Given the description of an element on the screen output the (x, y) to click on. 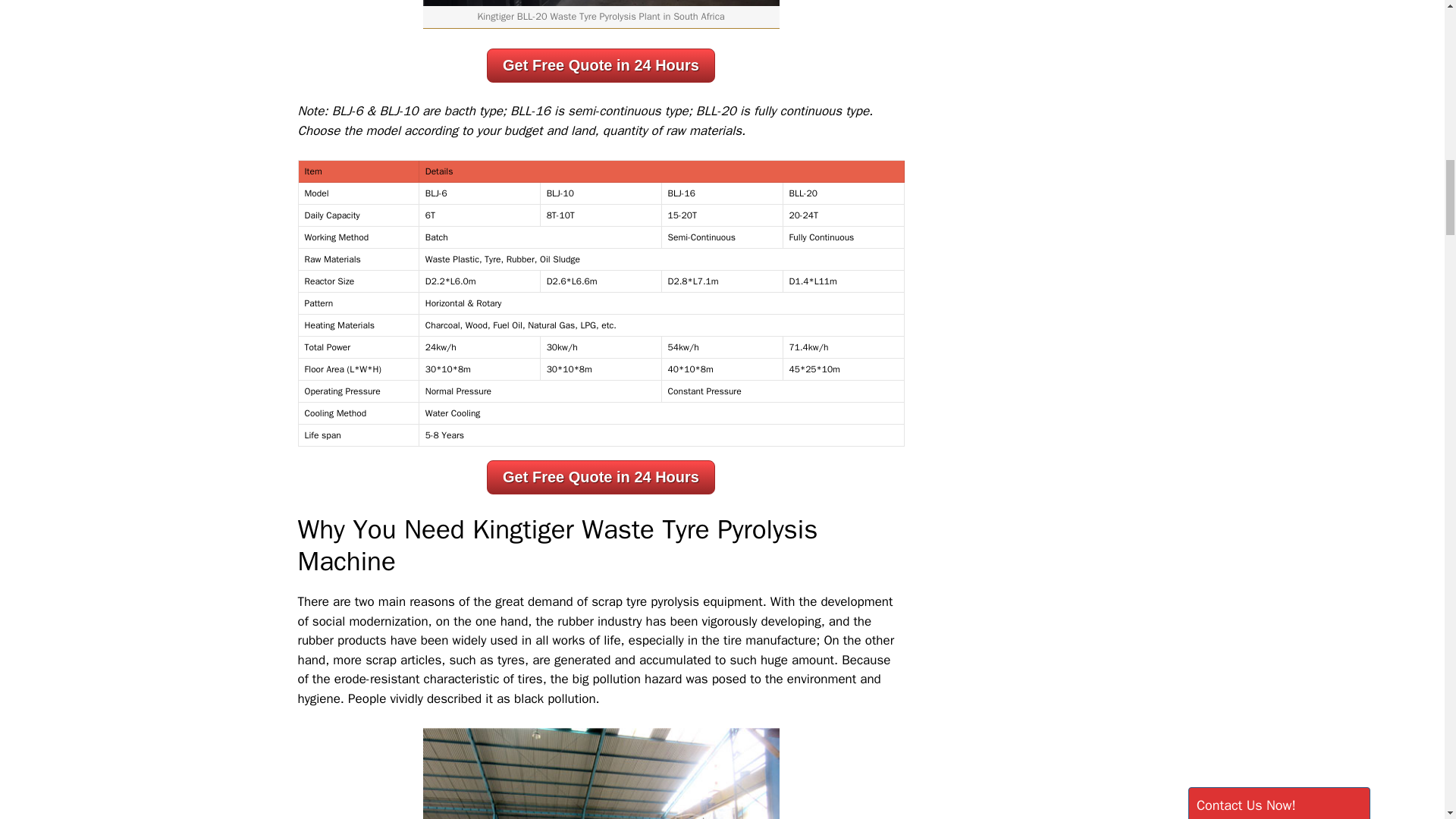
Get Free Quote in 24 Hours (600, 64)
